Given the description of an element on the screen output the (x, y) to click on. 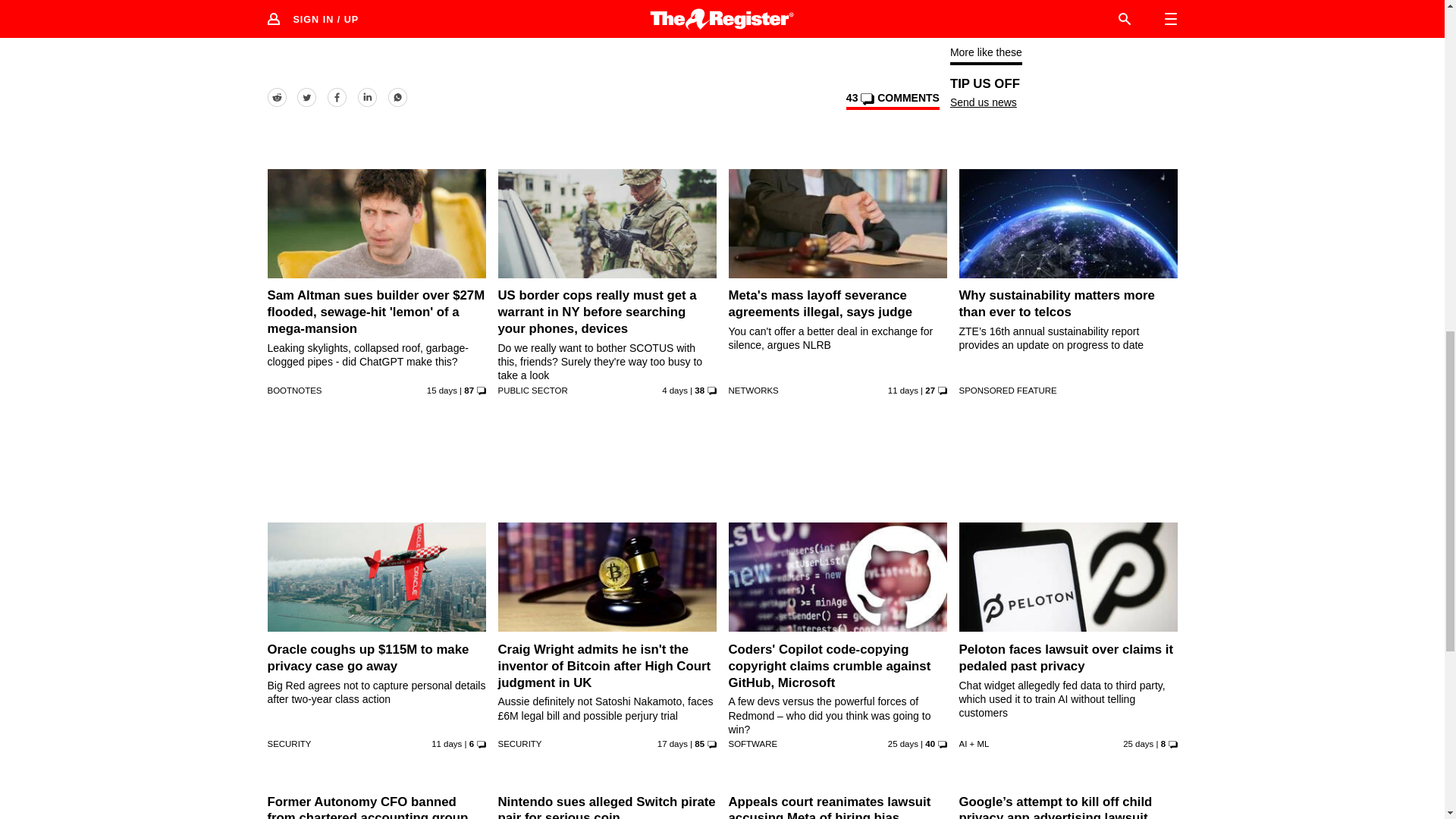
8 Jul 2024 18:1 (1137, 743)
22 Jul 2024 13:45 (445, 743)
17 Jul 2024 7:33 (672, 743)
8 Jul 2024 23:24 (903, 743)
29 Jul 2024 20:17 (674, 389)
22 Jul 2024 19:50 (903, 389)
18 Jul 2024 19:56 (441, 389)
View comments on this article (892, 100)
